Given the description of an element on the screen output the (x, y) to click on. 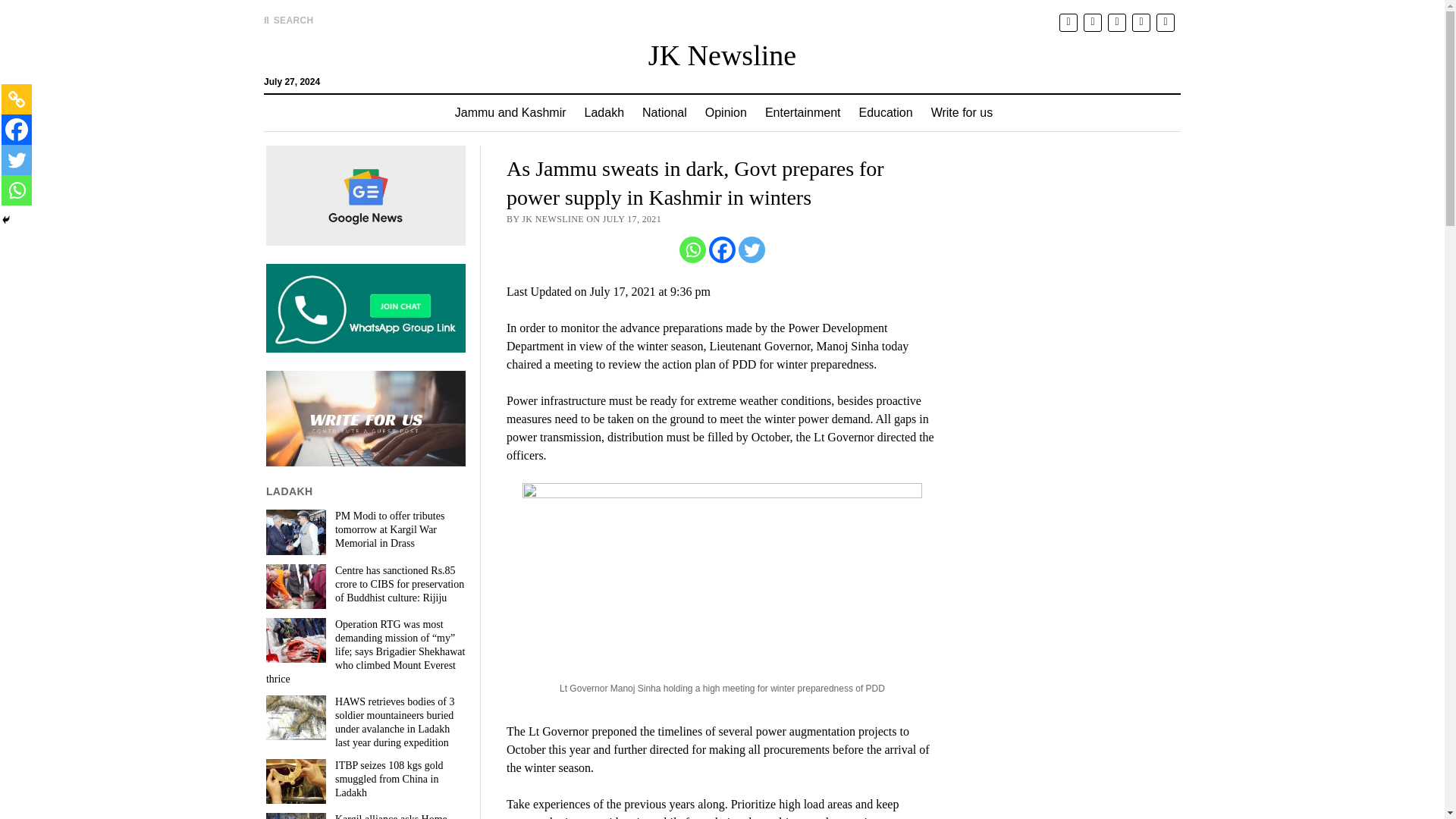
Twitter (751, 249)
Whatsapp (16, 190)
Write for us (962, 113)
Opinion (725, 113)
Jammu and Kashmir (510, 113)
Facebook (722, 249)
facebook (1092, 21)
JK Newsline (721, 55)
Facebook (16, 129)
ITBP seizes 108 kgs gold smuggled from China in Ladakh (365, 779)
Entertainment (802, 113)
